Given the description of an element on the screen output the (x, y) to click on. 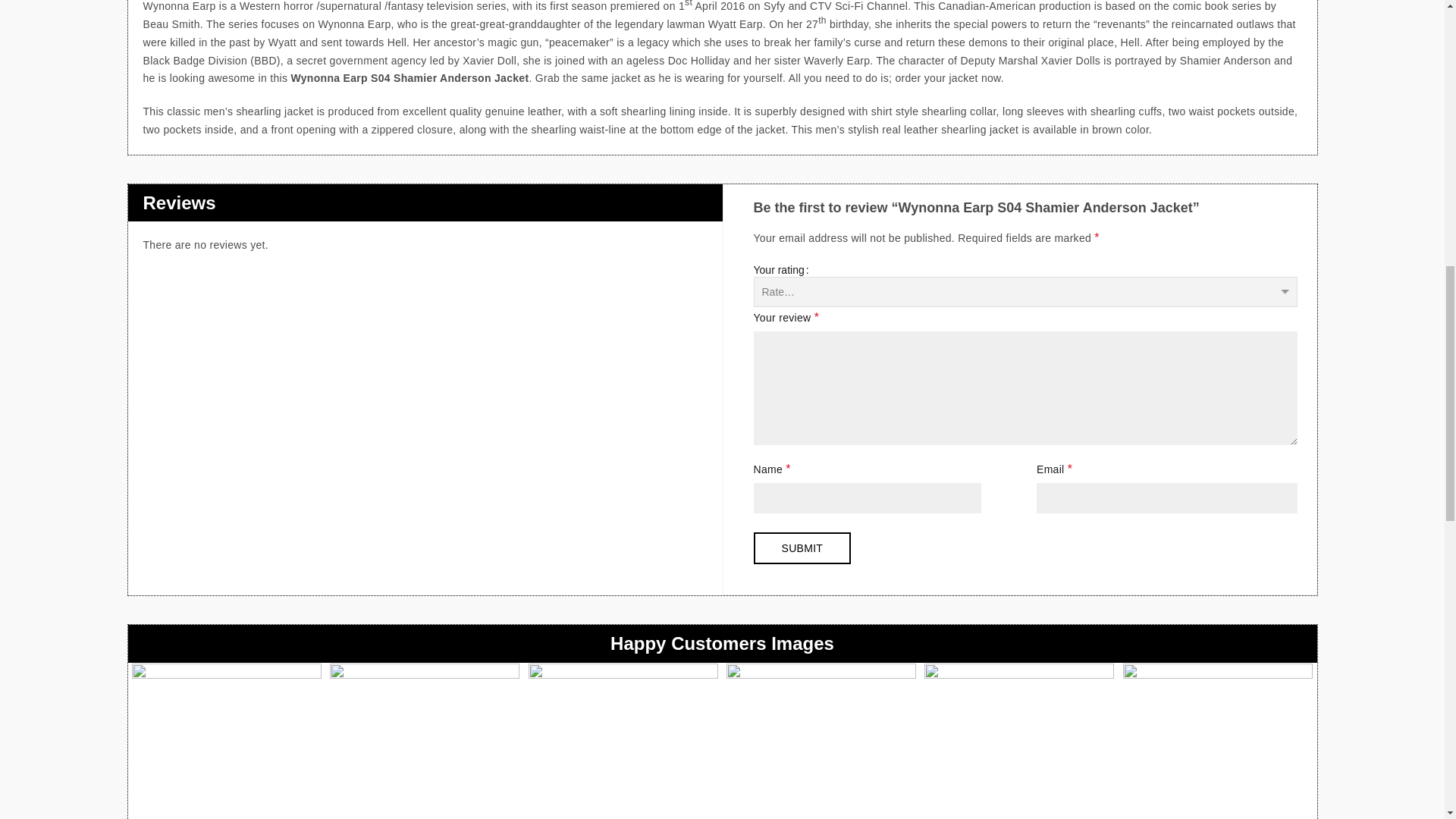
Submit (802, 548)
